Given the description of an element on the screen output the (x, y) to click on. 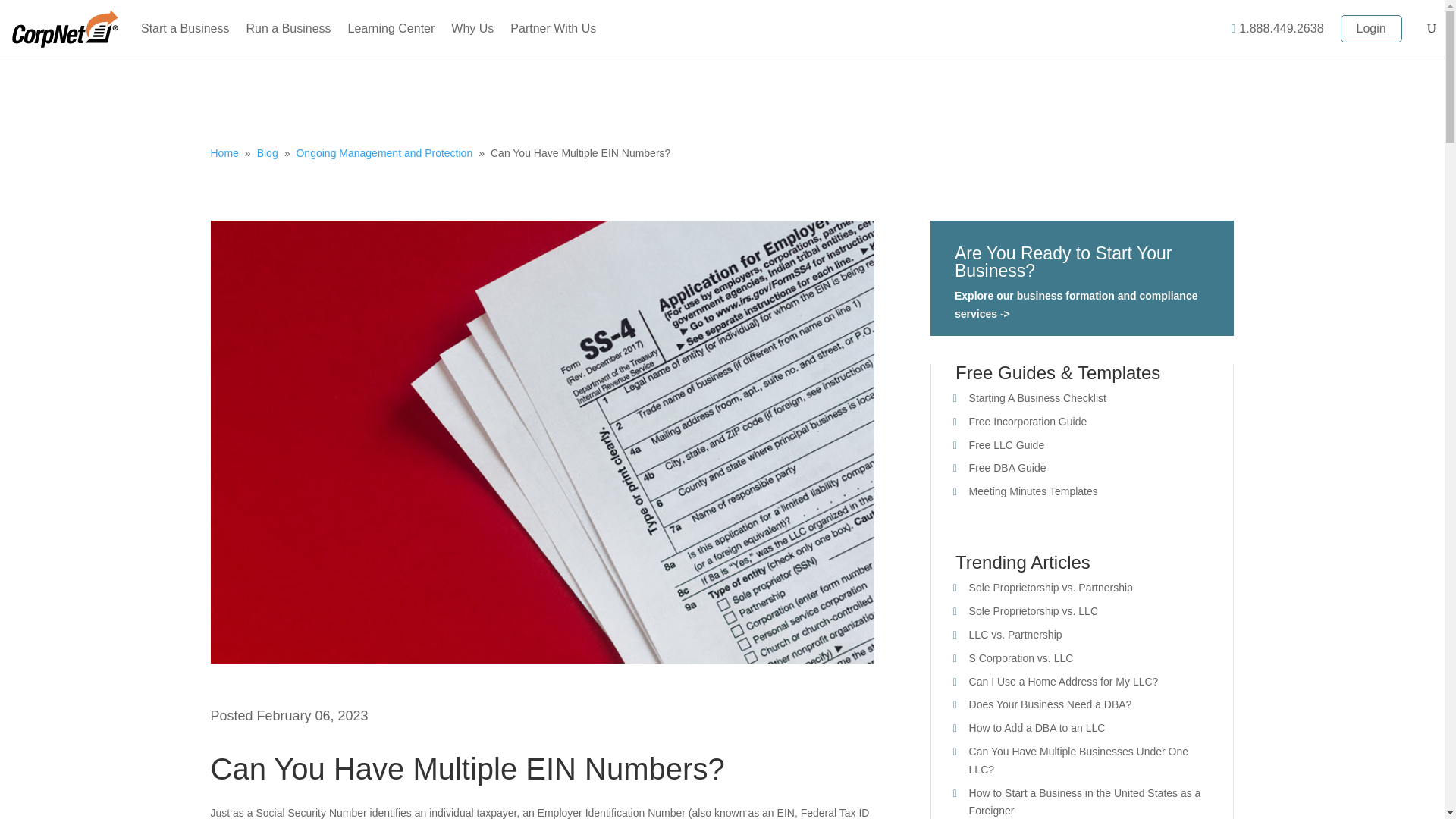
Breadcrumb navigation (722, 153)
